Given the description of an element on the screen output the (x, y) to click on. 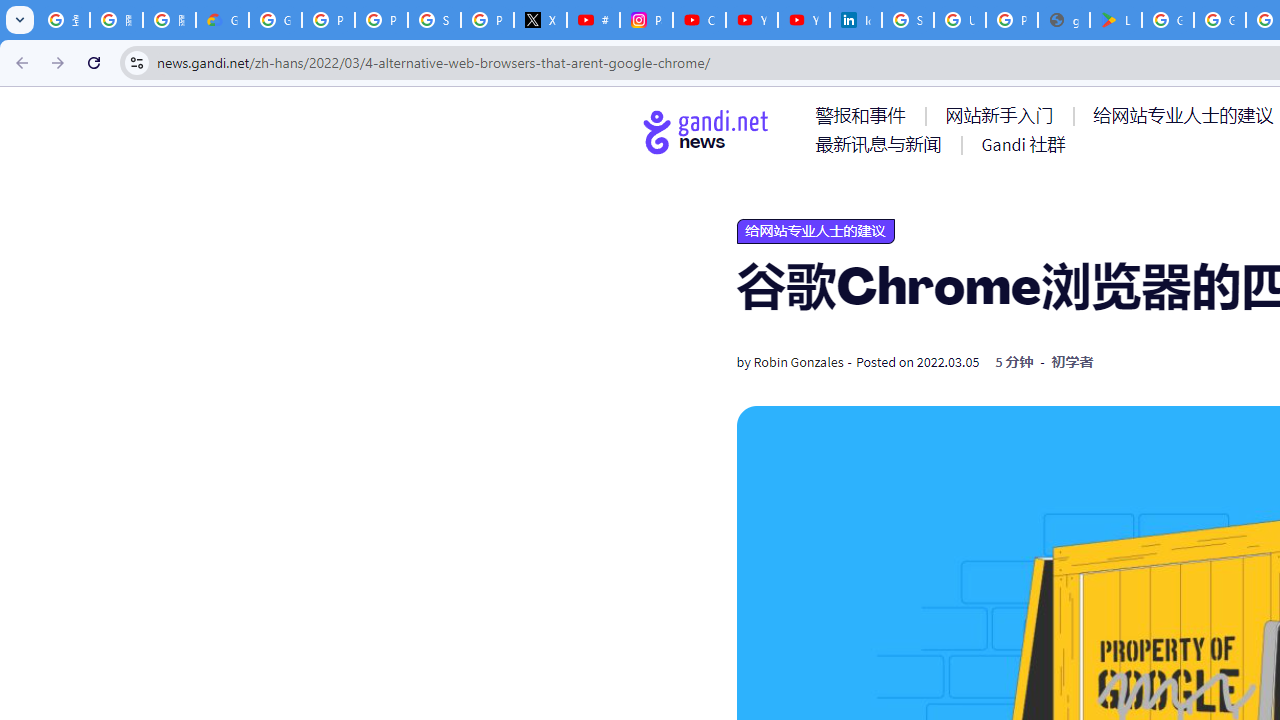
AutomationID: menu-item-77762 (1003, 115)
#nbabasketballhighlights - YouTube (593, 20)
Sign in - Google Accounts (434, 20)
Sign in - Google Accounts (907, 20)
Robin Gonzales (797, 362)
